Given the description of an element on the screen output the (x, y) to click on. 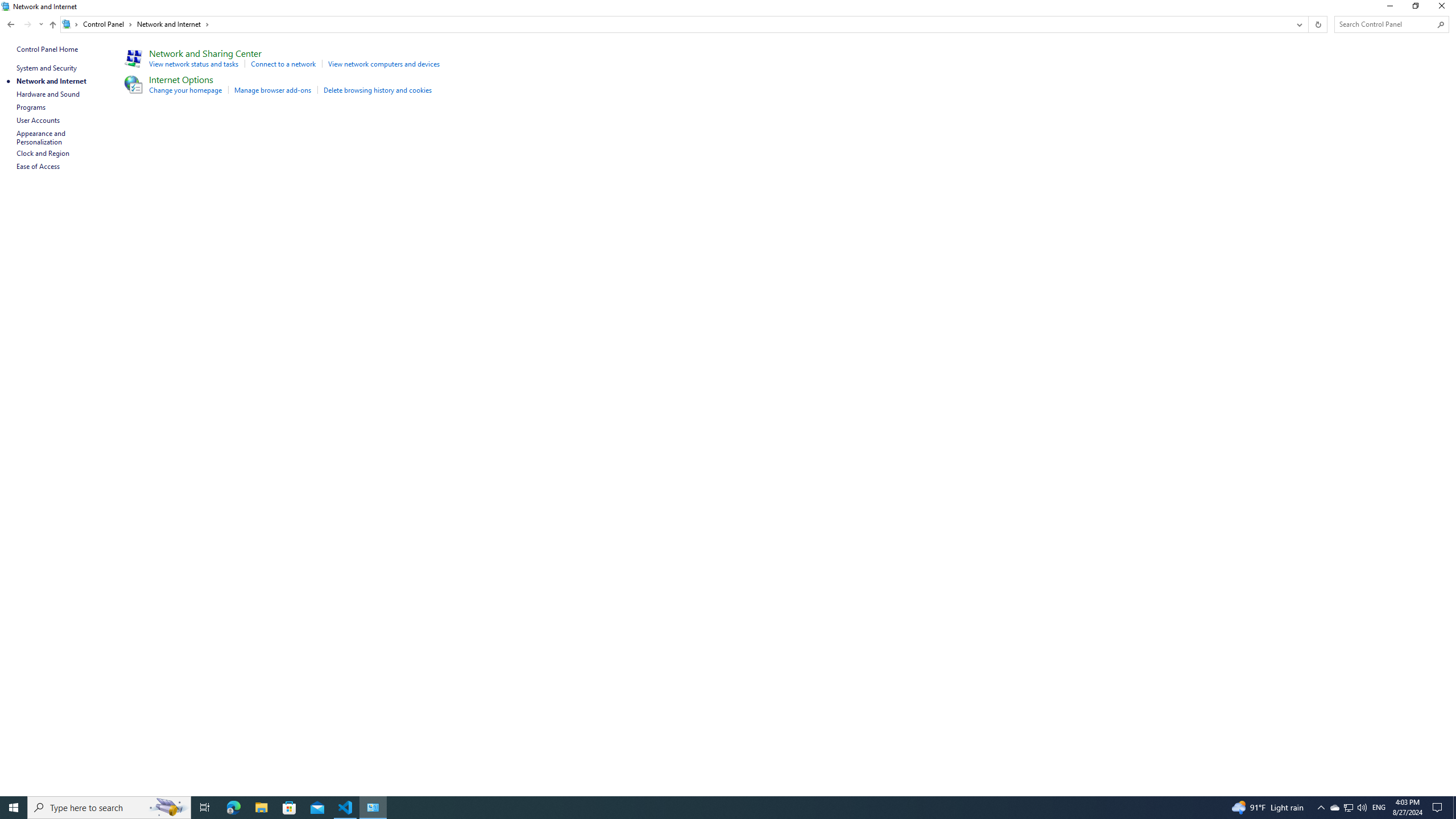
View network computers and devices (384, 63)
Refresh "Network and Internet" (F5) (1316, 23)
Programs (31, 107)
Ease of Access (38, 166)
Restore (1415, 8)
Hardware and Sound (48, 94)
Manage browser add-ons (271, 89)
